Given the description of an element on the screen output the (x, y) to click on. 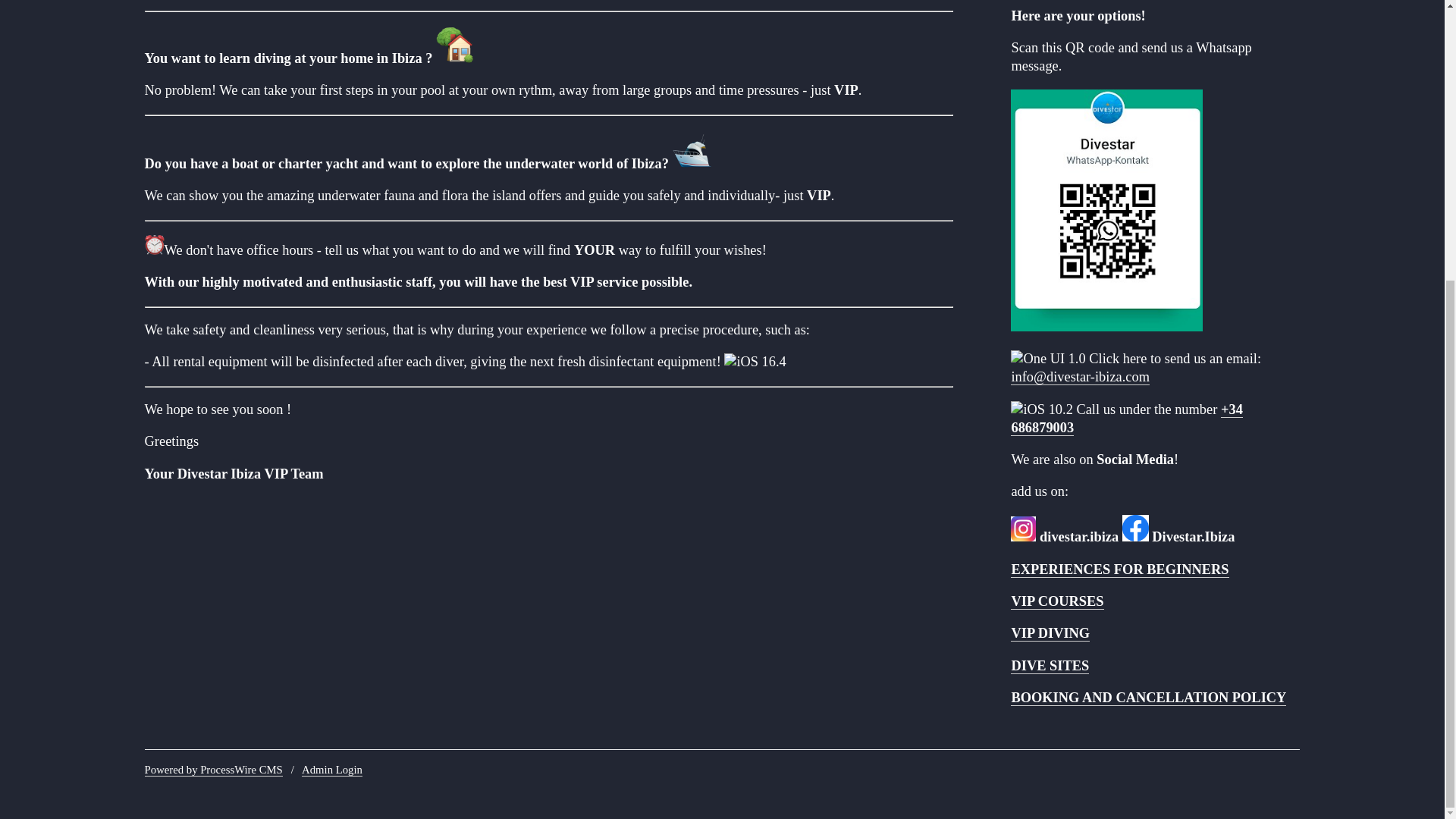
VIP DIVING (1049, 633)
Powered by ProcessWire CMS (213, 769)
Admin Login (331, 769)
VIP COURSES (1056, 601)
DIVE SITES (1049, 666)
